Given the description of an element on the screen output the (x, y) to click on. 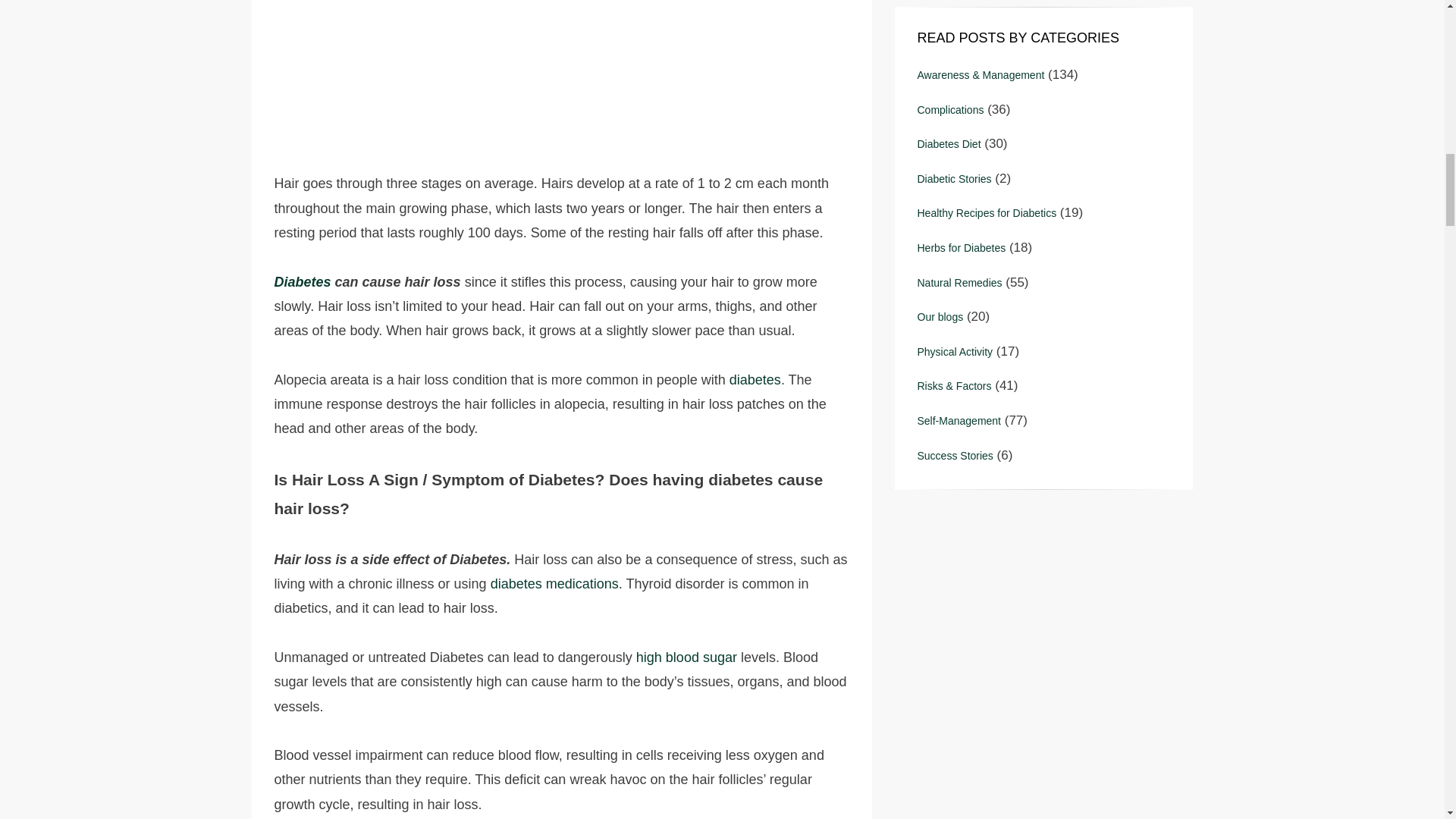
diabetes (754, 379)
high blood sugar (686, 657)
Diabetes (304, 281)
diabetes medications (554, 583)
